Given the description of an element on the screen output the (x, y) to click on. 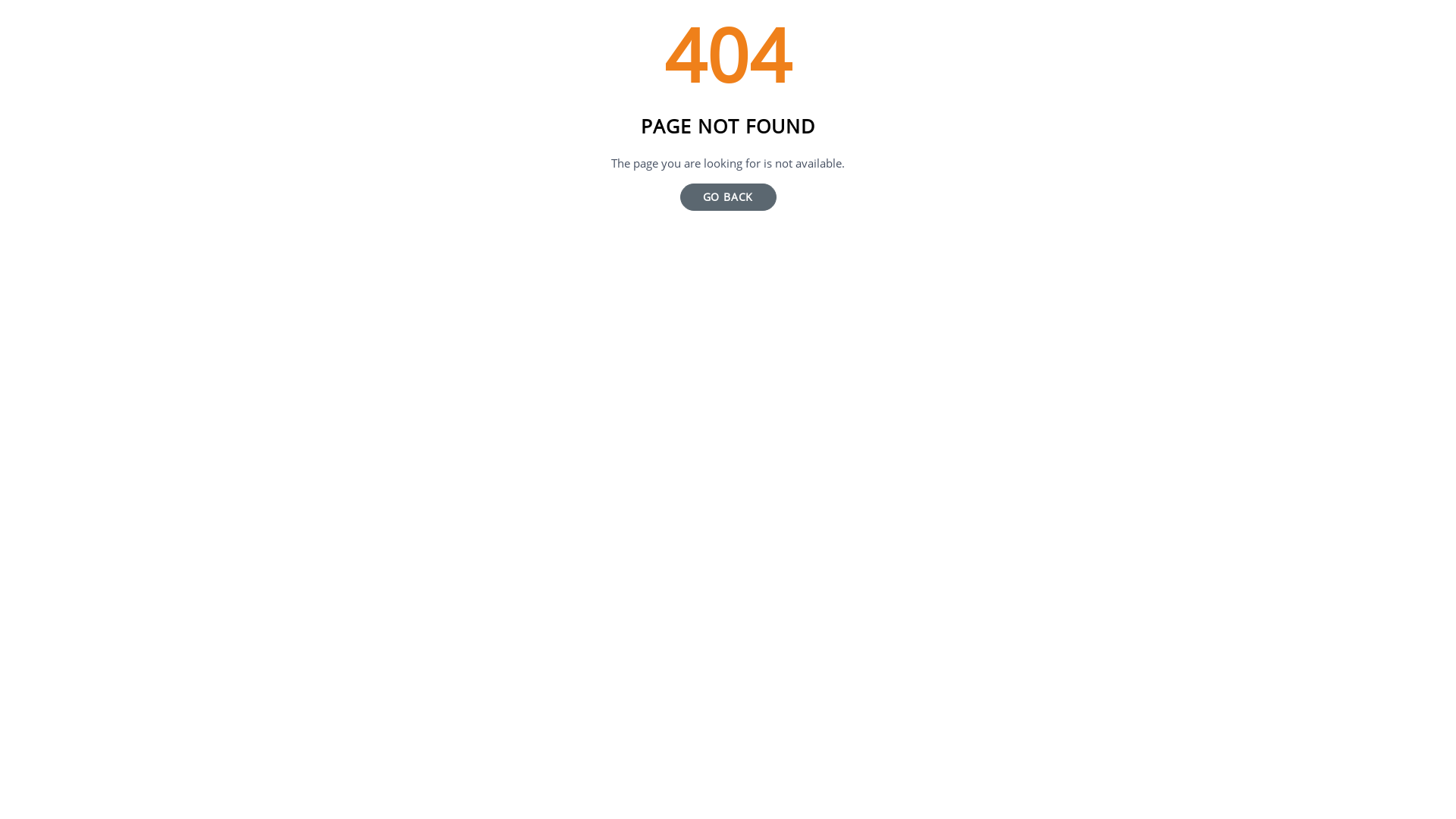
GO BACK Element type: text (727, 196)
